Given the description of an element on the screen output the (x, y) to click on. 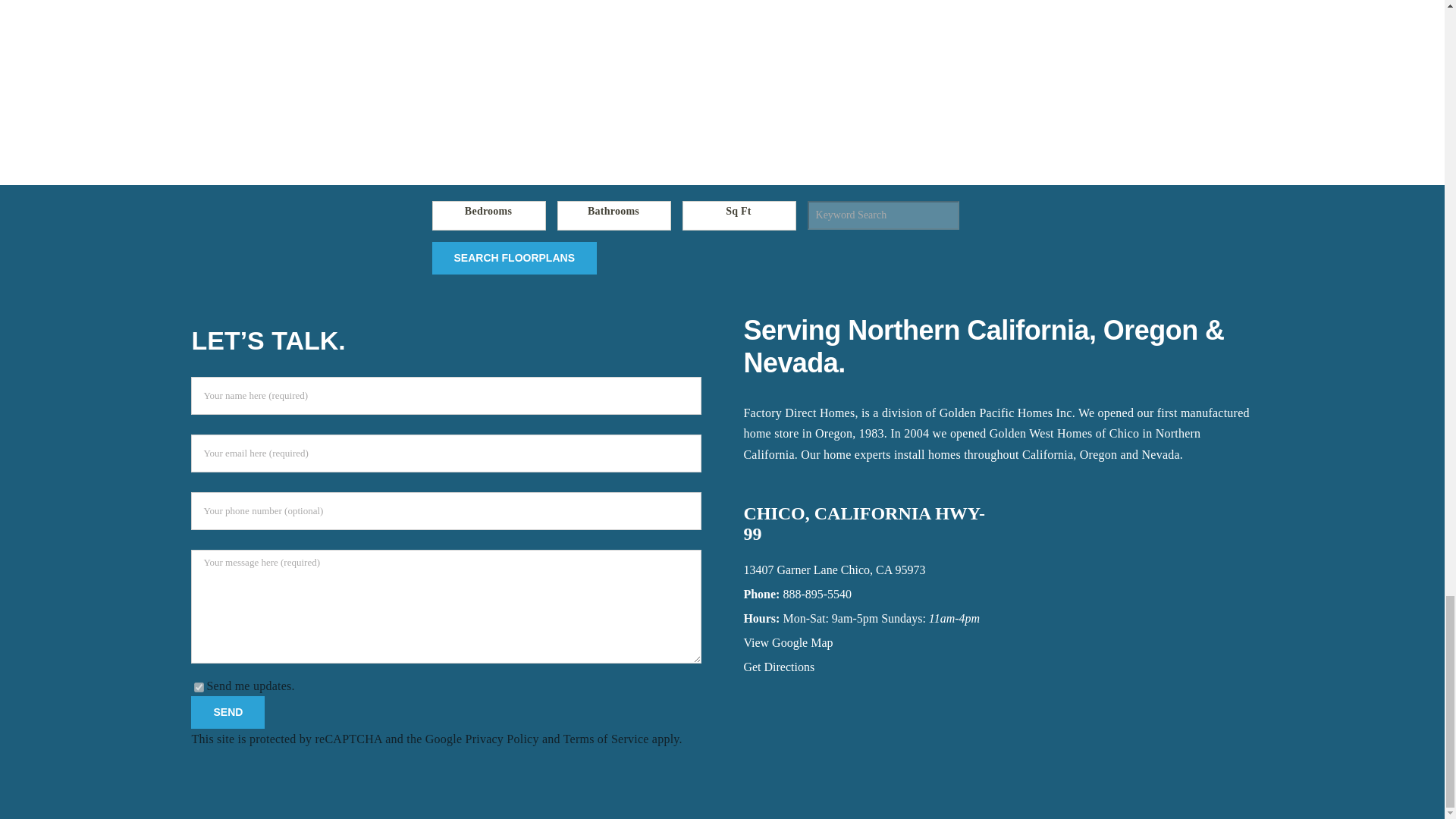
SEARCH FLOORPLANS (514, 257)
Bedrooms (489, 215)
1 (198, 687)
Bathrooms (614, 215)
Send (227, 712)
888-895-5540 (817, 594)
Get Directions (777, 666)
Send (227, 712)
View Google Map (787, 642)
Sq Ft (739, 215)
